Given the description of an element on the screen output the (x, y) to click on. 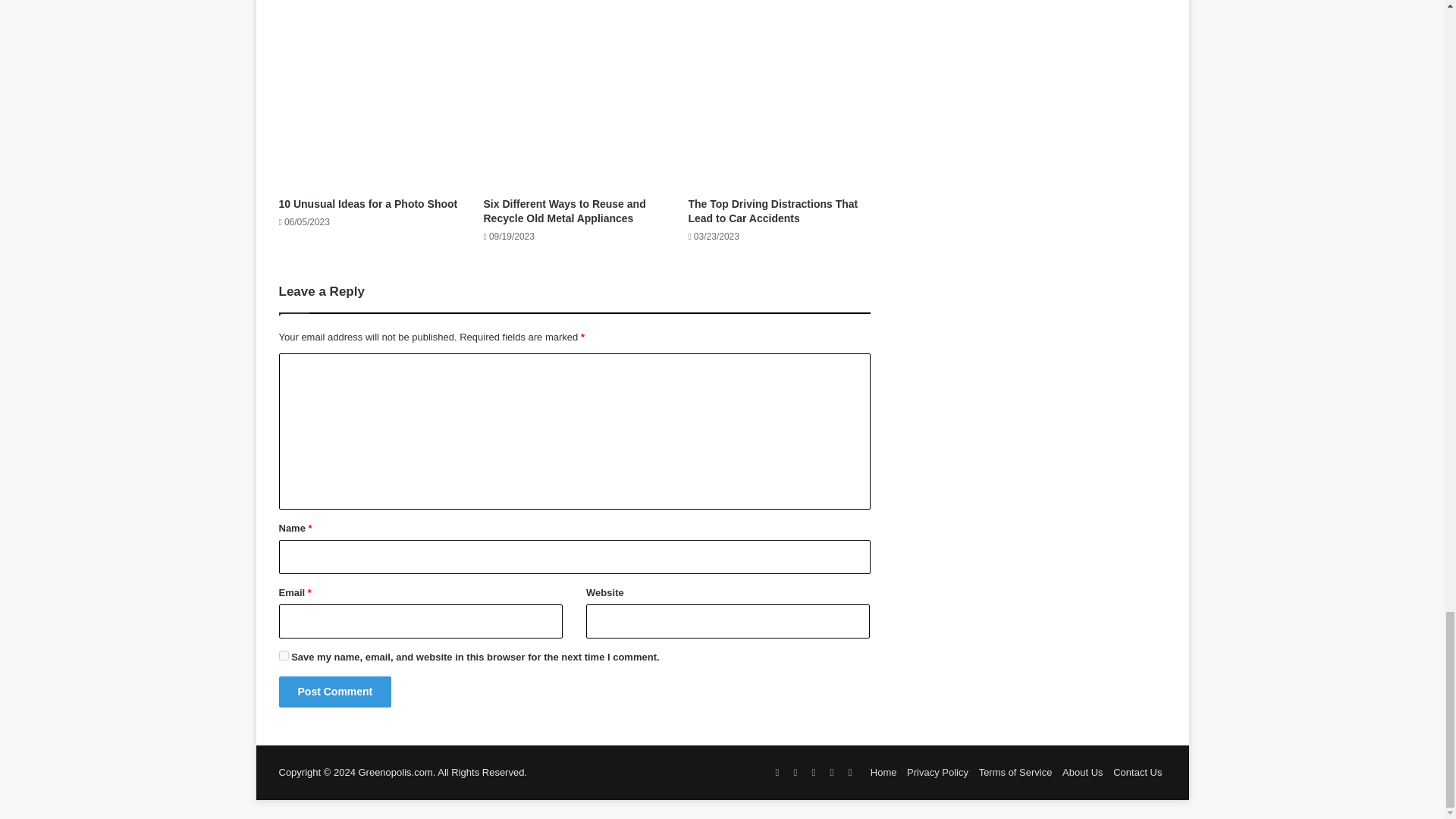
Post Comment (335, 691)
yes (283, 655)
